Given the description of an element on the screen output the (x, y) to click on. 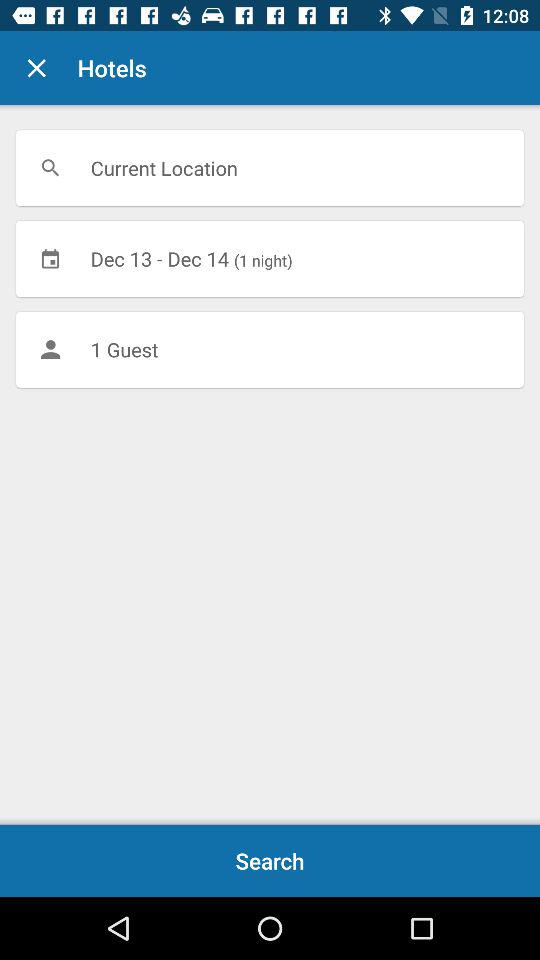
jump until dec 13 dec (269, 258)
